Given the description of an element on the screen output the (x, y) to click on. 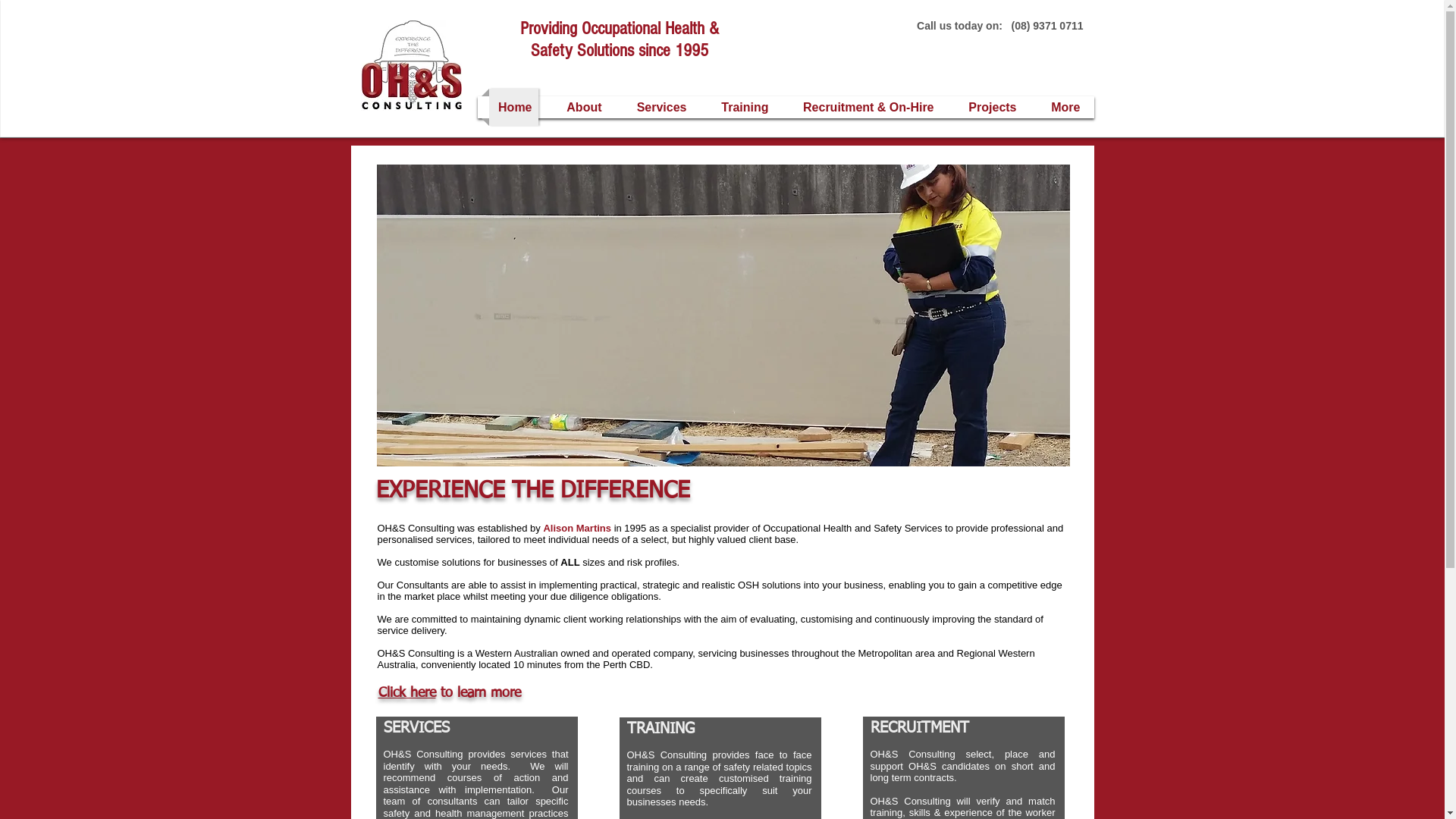
Logo Current sharpened Edges 200 pixels.jpg Element type: hover (410, 64)
Site Search Element type: hover (1014, 48)
Recruitment & On-Hire Element type: text (866, 106)
Training Element type: text (742, 106)
Click here to learn more Element type: text (448, 692)
Services Element type: text (658, 106)
Home Element type: text (512, 106)
Projects Element type: text (989, 106)
Alison Martins Element type: text (576, 527)
About Element type: text (582, 106)
